Given the description of an element on the screen output the (x, y) to click on. 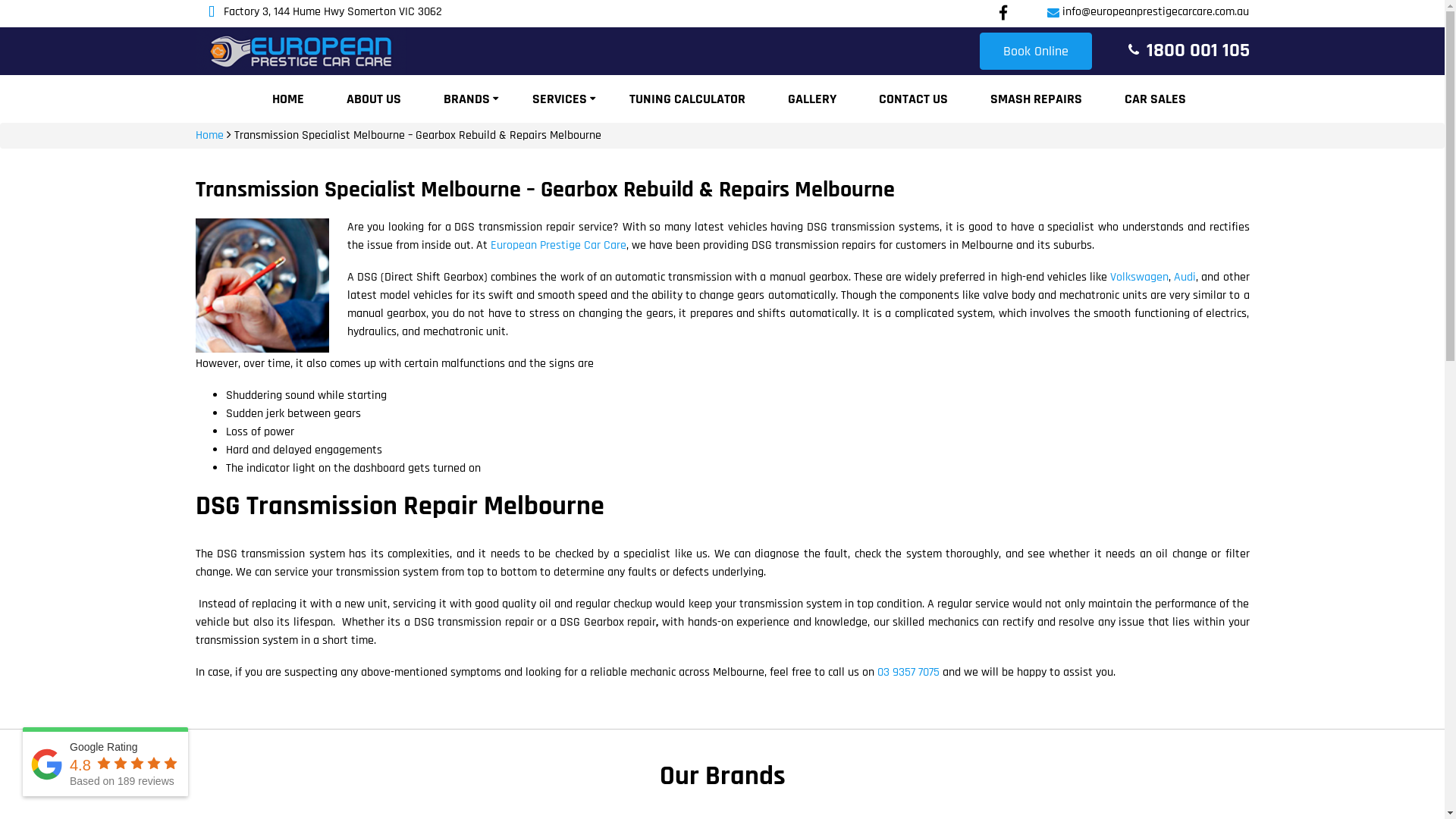
HOME Element type: text (287, 98)
CAR SALES Element type: text (1154, 98)
European Prestige Car Care Element type: text (557, 245)
Volkswagen Element type: text (1139, 277)
BRANDS Element type: text (466, 98)
info@europeanprestigecarcare.com.au Element type: text (1155, 11)
Audi Element type: text (1184, 277)
TUNING CALCULATOR Element type: text (687, 98)
ABOUT US Element type: text (373, 98)
Facebook Element type: hover (1003, 13)
GALLERY Element type: text (812, 98)
Facebook Element type: hover (1003, 12)
03 9357 7075 Element type: text (907, 672)
Home Element type: text (209, 135)
Book Online Element type: text (1035, 50)
SERVICES Element type: text (559, 98)
1800 001 105 Element type: text (1197, 49)
CONTACT US Element type: text (913, 98)
SMASH REPAIRS Element type: text (1035, 98)
